Given the description of an element on the screen output the (x, y) to click on. 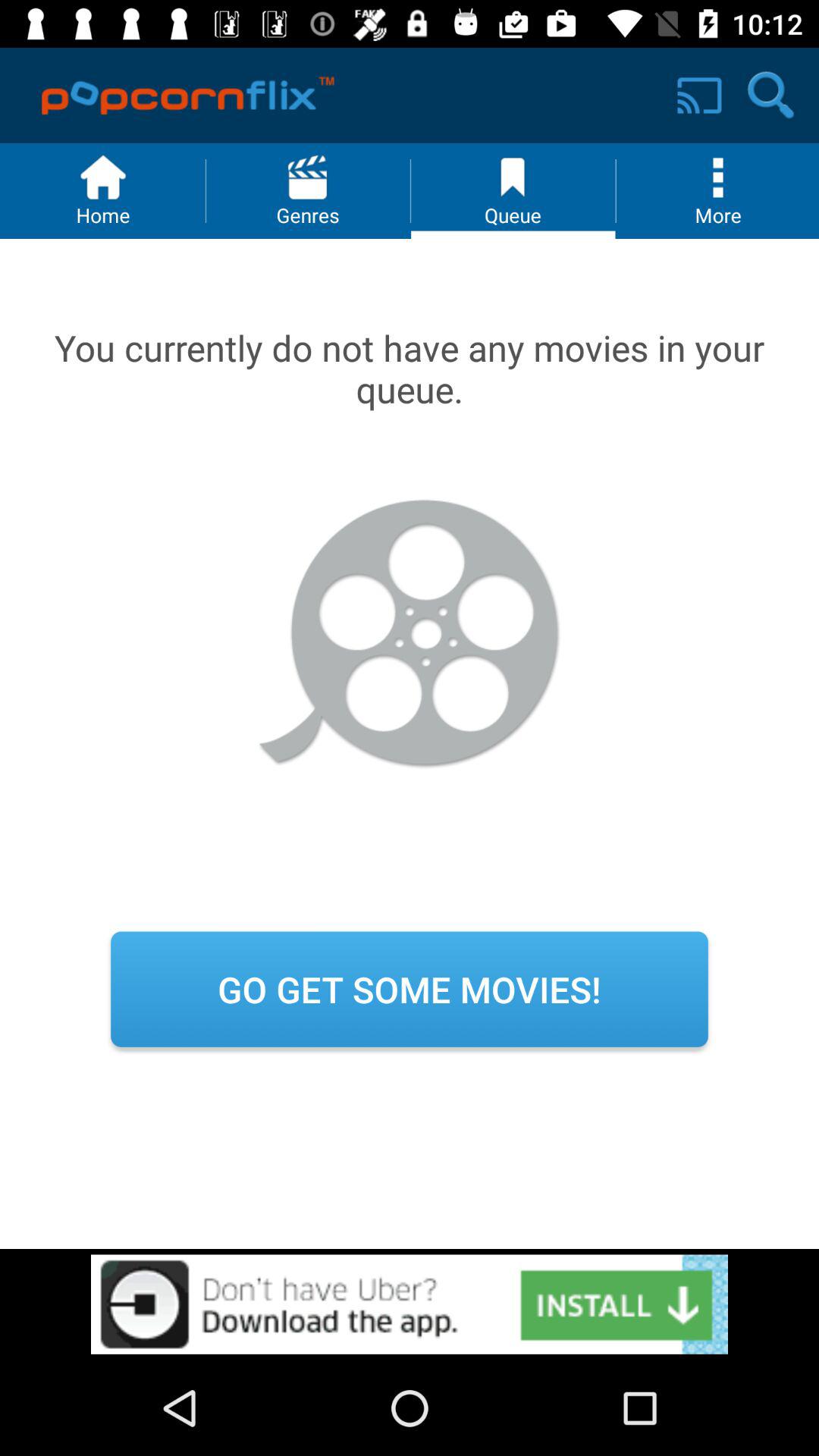
click on the icon go get some movies (409, 988)
click on the icon next to menu button (512, 178)
click on icon which is left side of search button (699, 95)
select the option which is to the right side of queue option (717, 190)
click on the search icon (771, 95)
select on home button (103, 190)
select symbol above generes (307, 178)
